Given the description of an element on the screen output the (x, y) to click on. 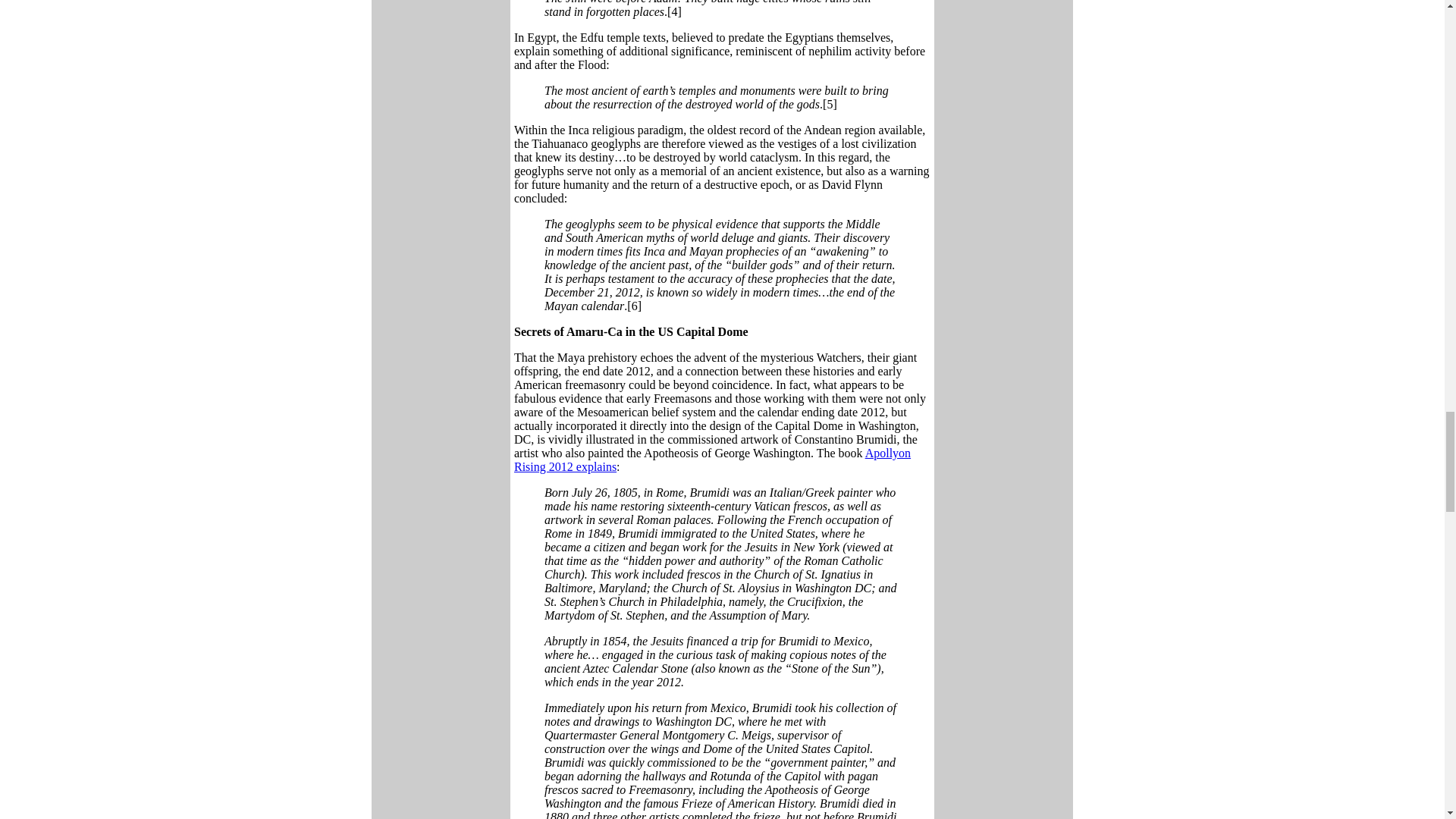
Apollyon Rising 2012 explains (712, 459)
